Given the description of an element on the screen output the (x, y) to click on. 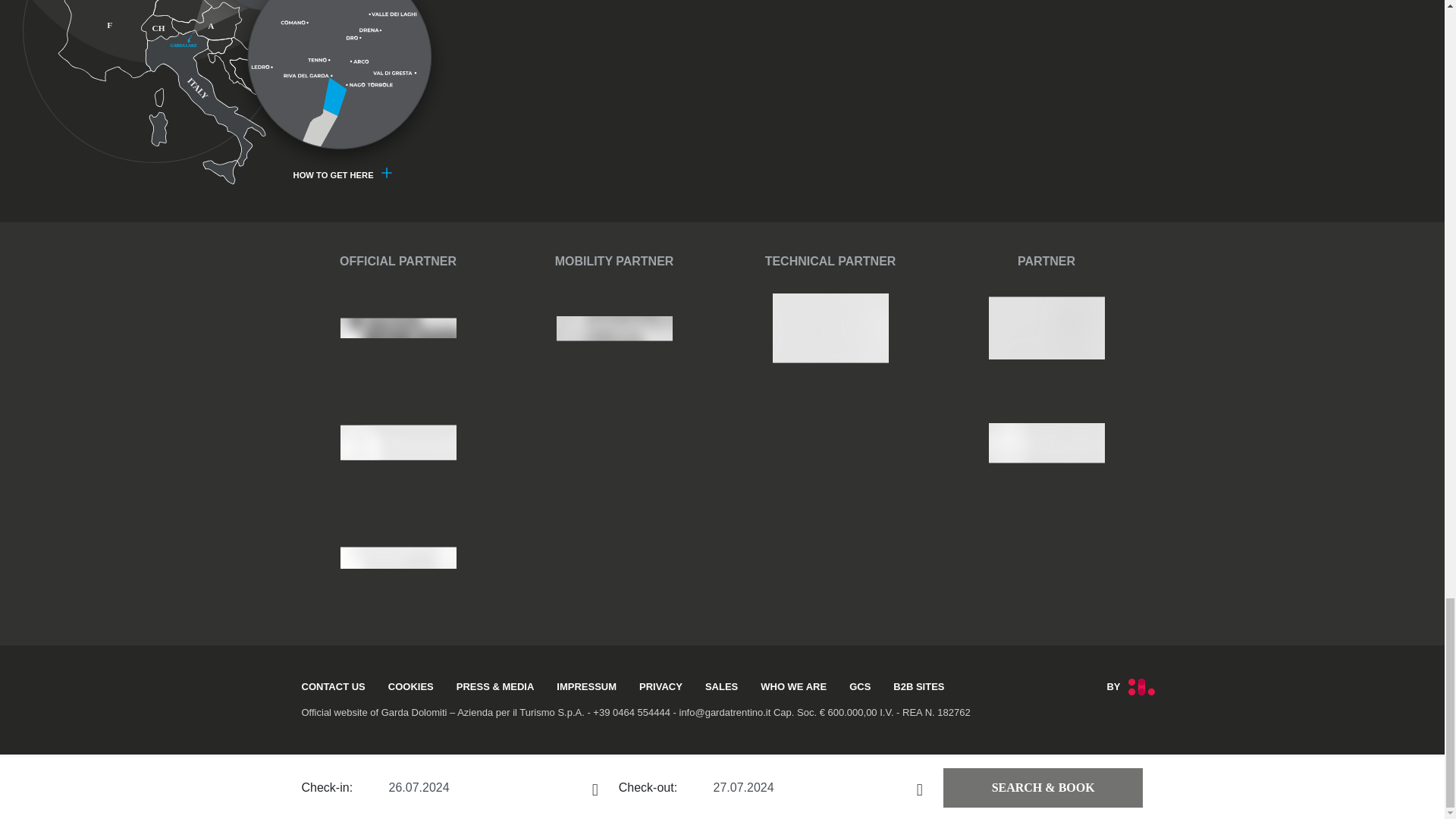
AutoIndustriale Logo (240, 92)
